Given the description of an element on the screen output the (x, y) to click on. 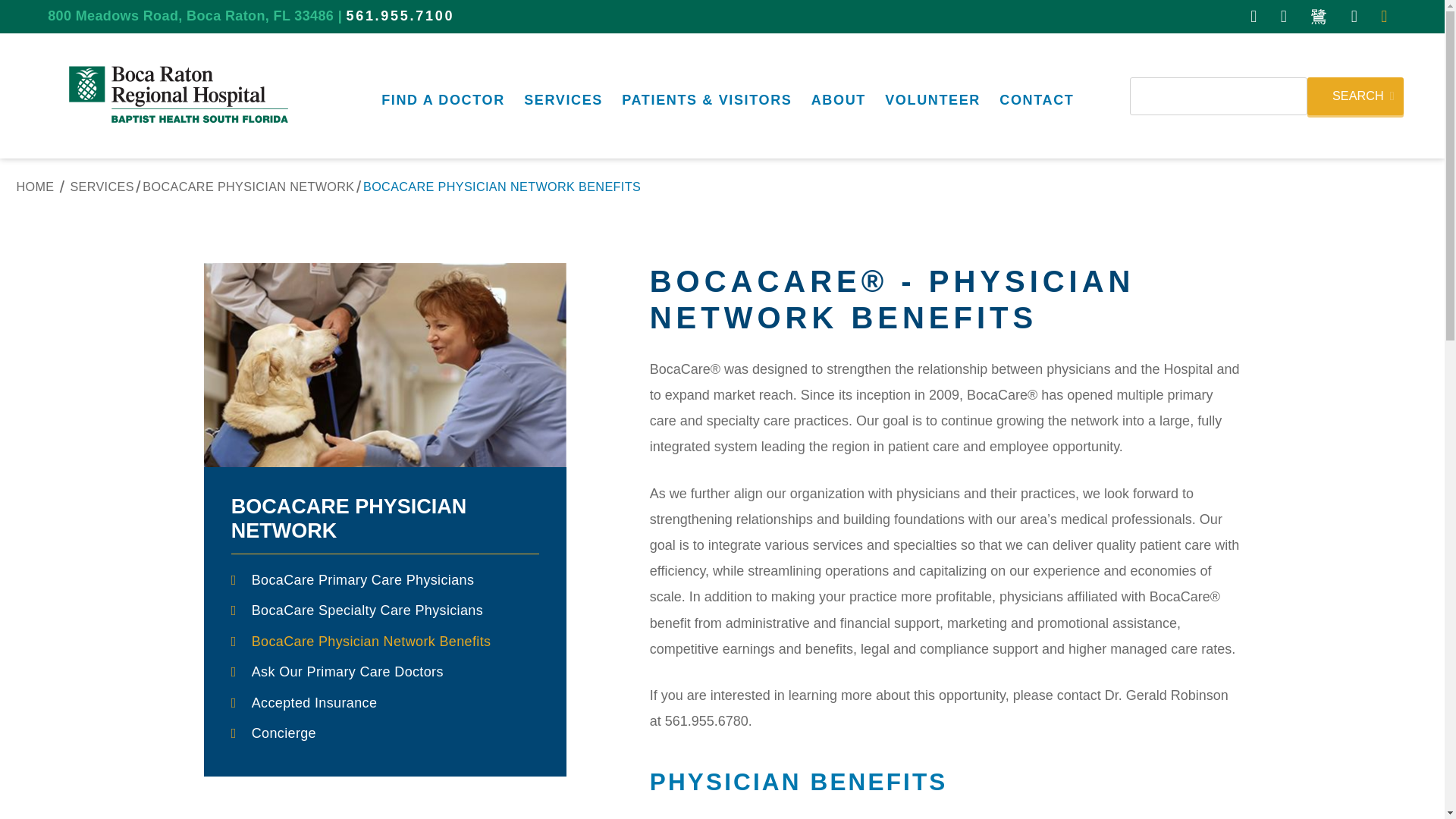
VOLUNTEER (933, 95)
SEARCH (1355, 95)
SERVICES (562, 95)
youtube-3 link (1318, 16)
FIND A DOCTOR (443, 95)
CONTACT (1036, 95)
561.955.7100 (400, 15)
Boca Raton Regional Hospital (182, 95)
